Given the description of an element on the screen output the (x, y) to click on. 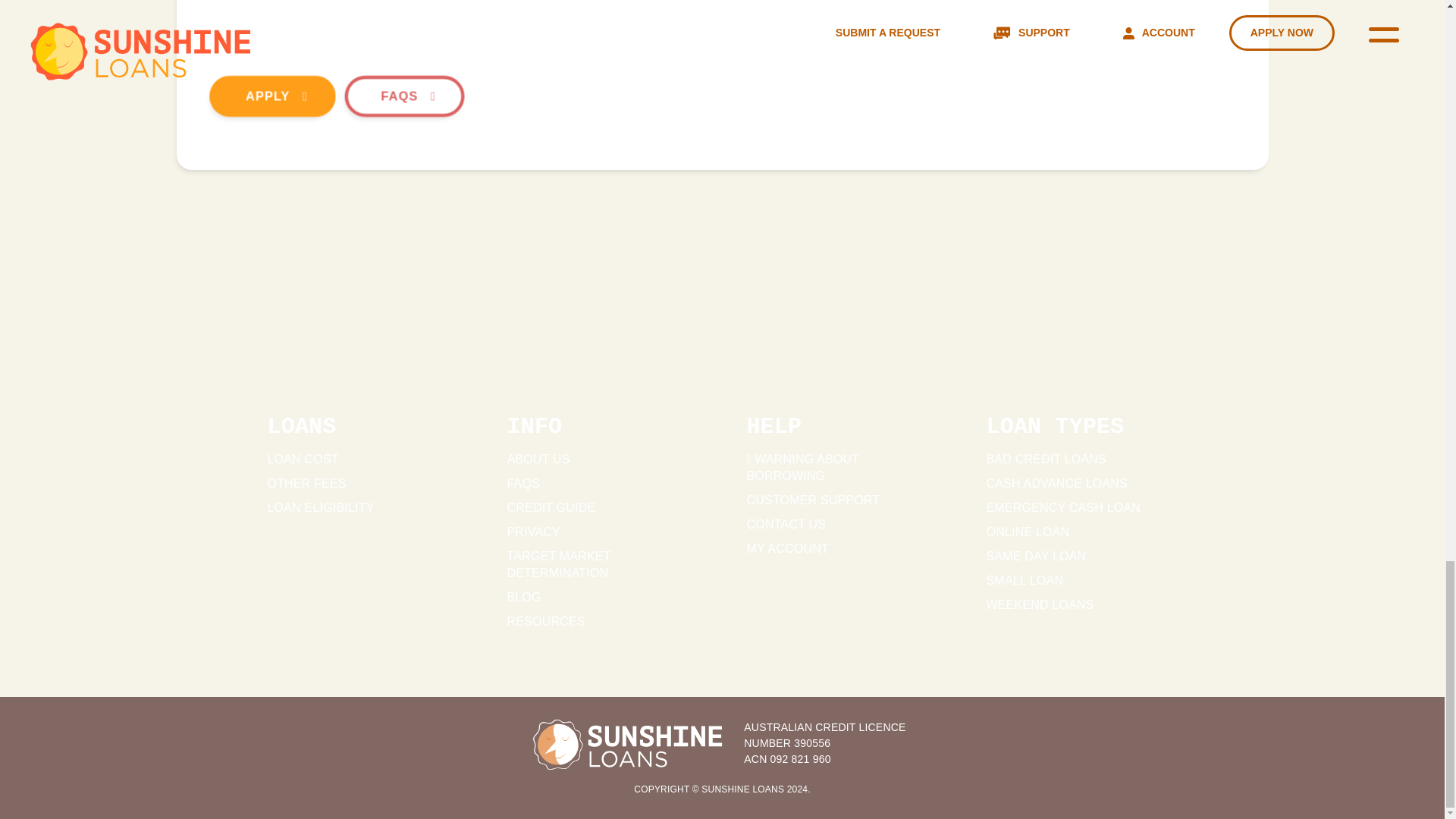
FAQS (402, 95)
LOAN ELIGIBILITY (320, 507)
FAQS (522, 482)
WARNING ABOUT BORROWING (802, 467)
RESOURCES (545, 621)
APPLY (270, 95)
BLOG (523, 596)
OTHER FEES (306, 482)
ABOUT US (537, 459)
TARGET MARKET DETERMINATION (558, 564)
PRIVACY (532, 531)
CUSTOMER SUPPORT (812, 499)
LOAN COST (301, 459)
CREDIT GUIDE (550, 507)
CONTACT US (785, 523)
